Given the description of an element on the screen output the (x, y) to click on. 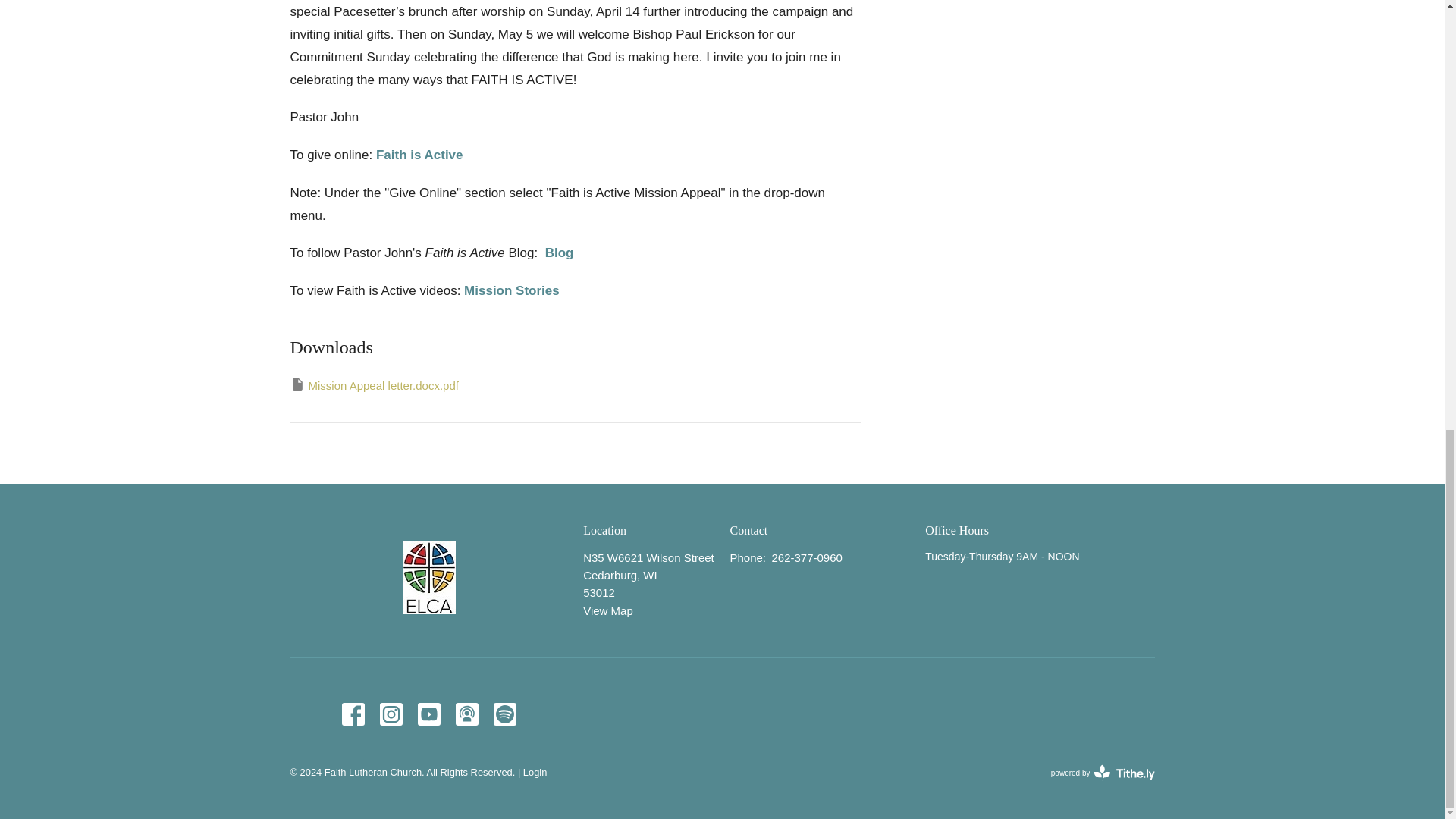
262-377-0960 (806, 557)
To download, right-click the file and select "Save link as". (373, 384)
Mission Stories (511, 290)
Mission Appeal letter.docx.pdf (373, 384)
Login (534, 772)
View Map (1102, 772)
Blog (608, 610)
Faith is Active (558, 252)
